Given the description of an element on the screen output the (x, y) to click on. 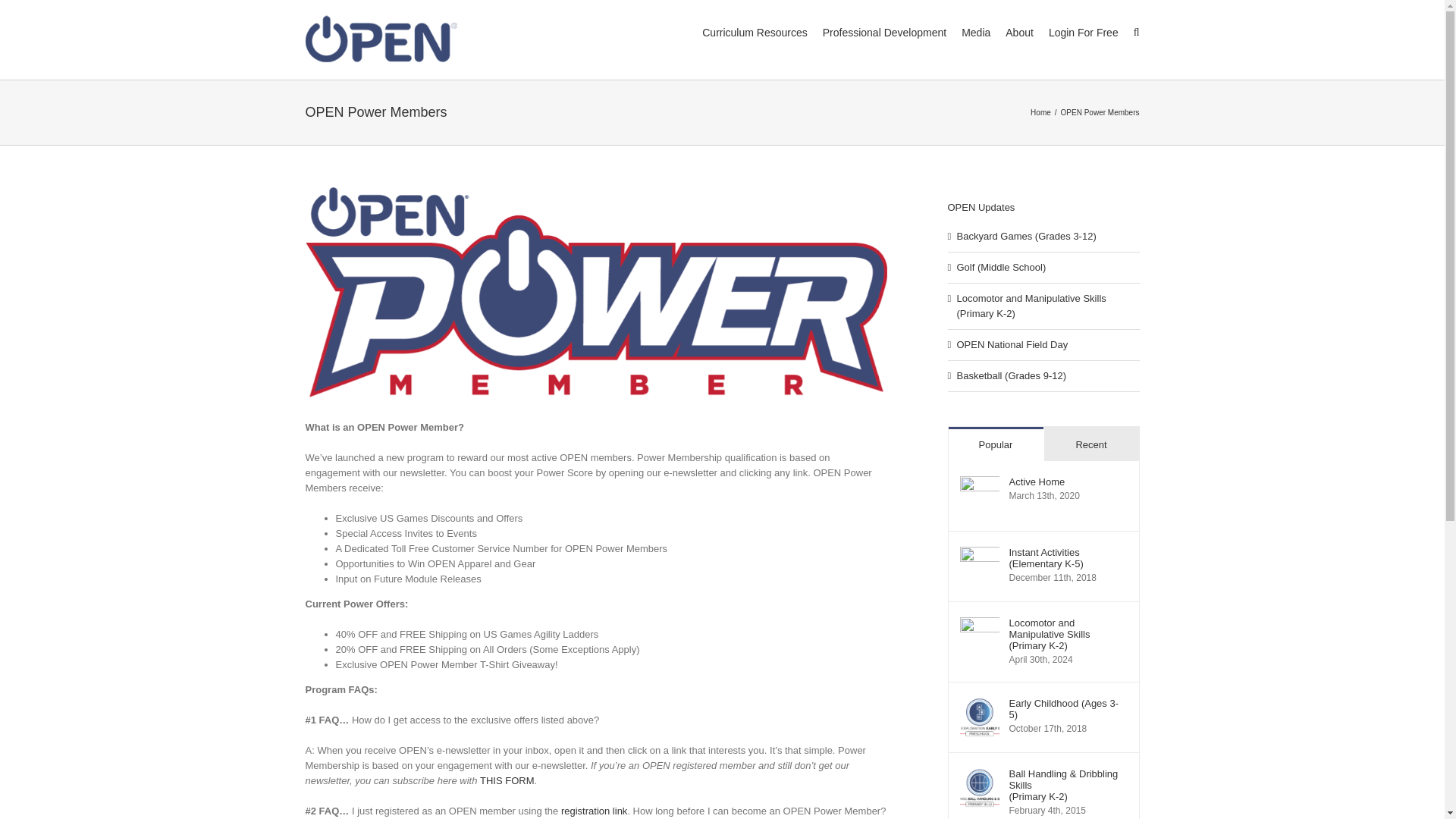
Curriculum Resources (753, 31)
Professional Development (884, 31)
